Given the description of an element on the screen output the (x, y) to click on. 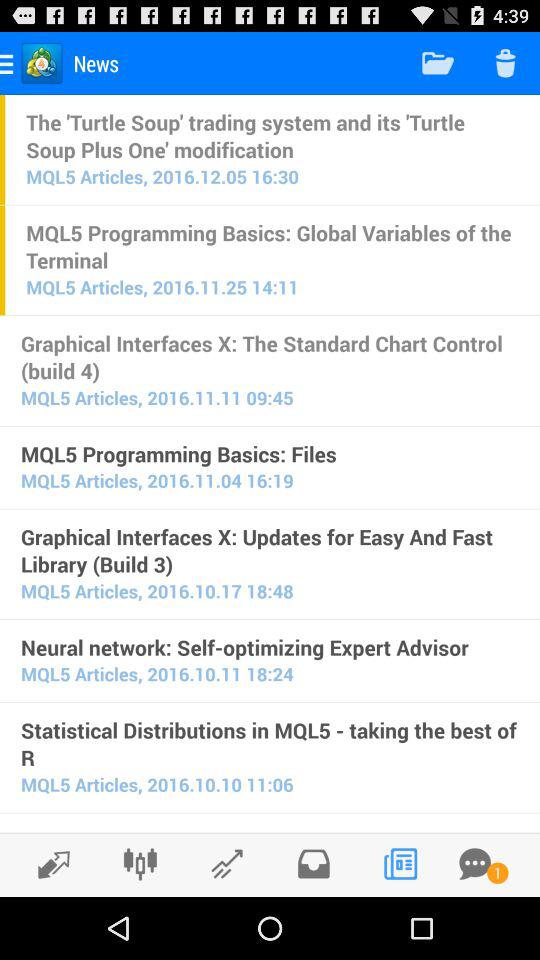
other messages (475, 864)
